Given the description of an element on the screen output the (x, y) to click on. 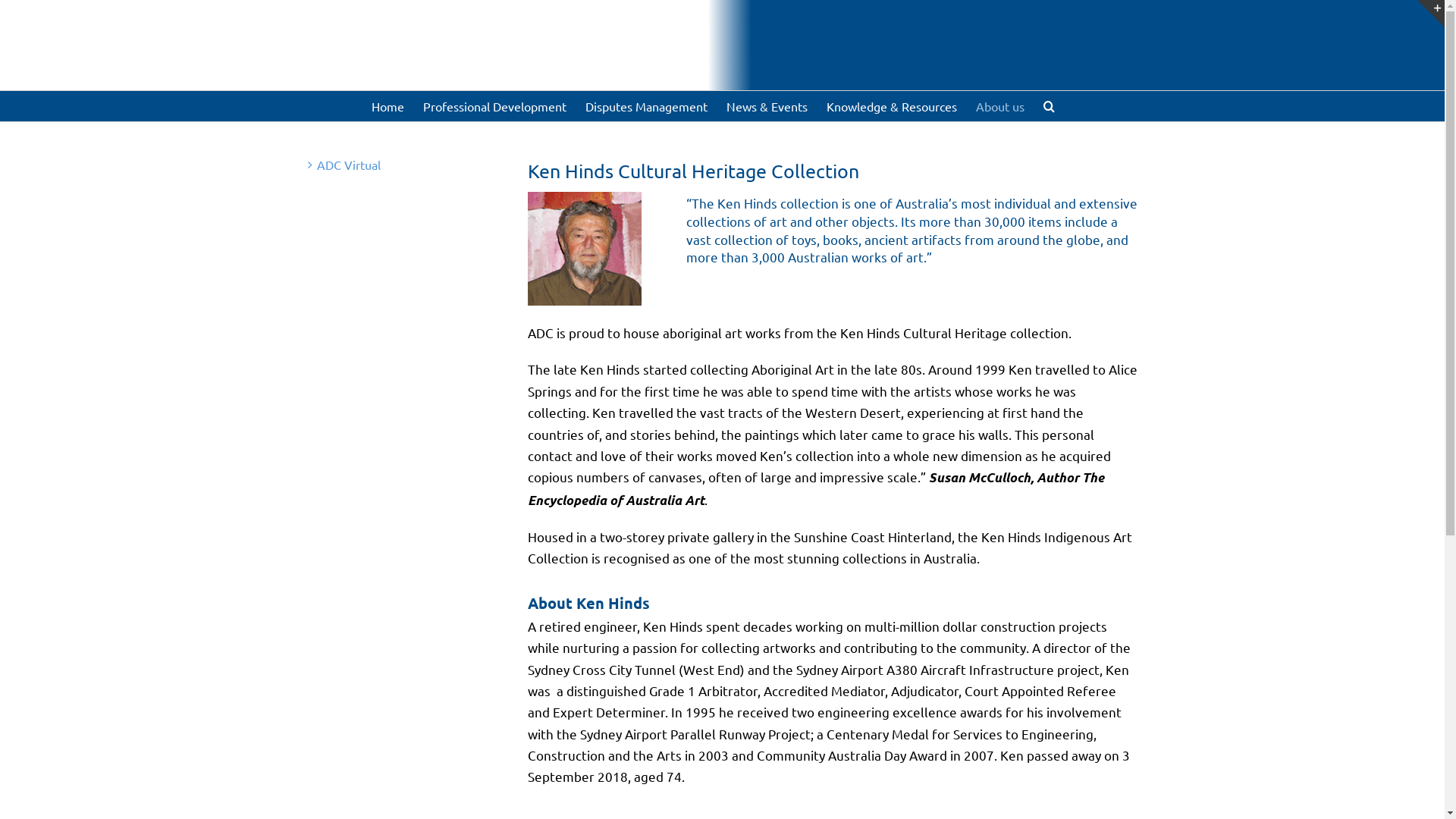
Toggle Sliding Bar Area Element type: text (1430, 13)
Search Element type: hover (1048, 106)
Home Element type: text (387, 106)
Knowledge & Resources Element type: text (891, 106)
News & Events Element type: text (766, 106)
Disputes Management Element type: text (646, 106)
ken-hinds Element type: hover (584, 248)
ADC Virtual Element type: text (348, 164)
About us Element type: text (999, 106)
Professional Development Element type: text (494, 106)
